Given the description of an element on the screen output the (x, y) to click on. 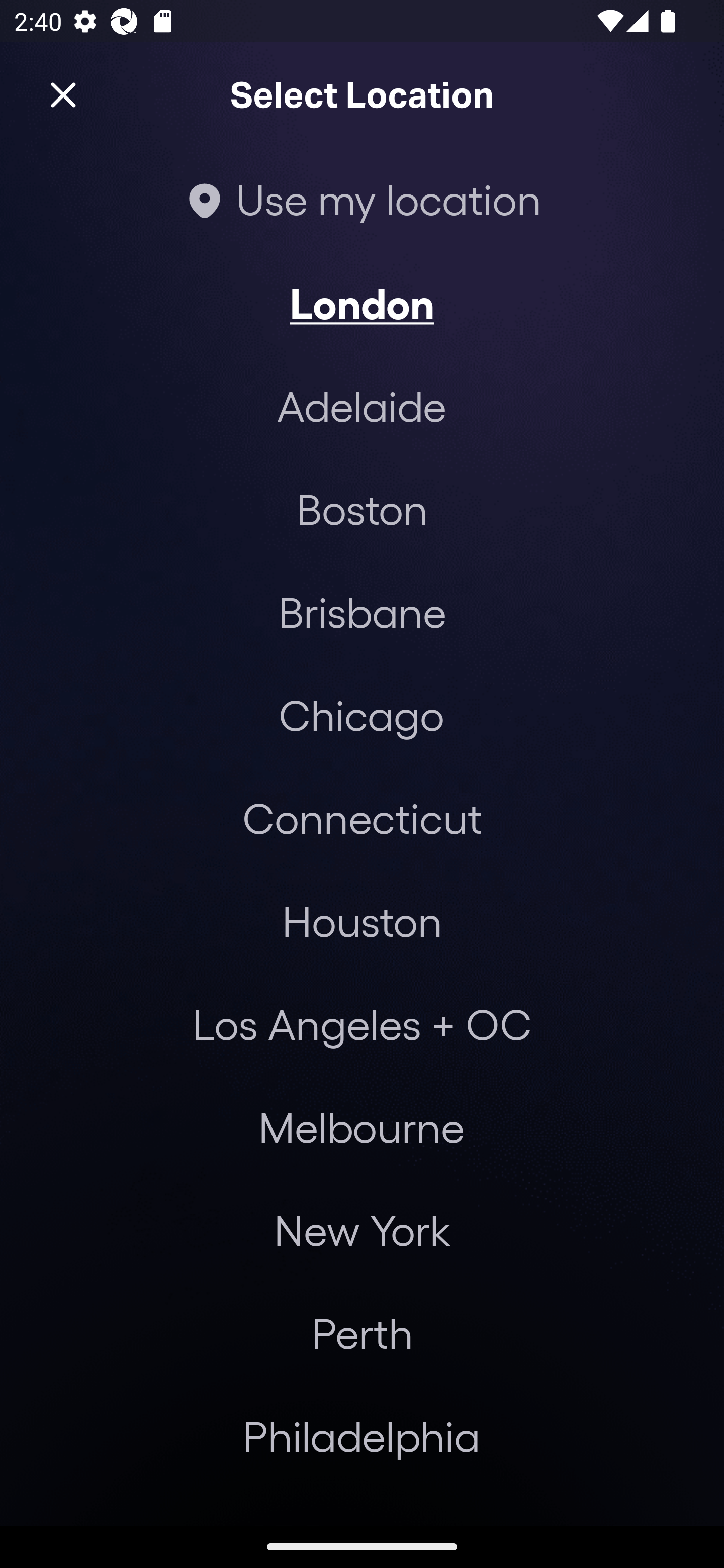
Close (62, 95)
   Use my location (362, 198)
London (361, 302)
Adelaide (361, 405)
Boston (361, 508)
Brisbane (361, 611)
Chicago (361, 714)
Connecticut (361, 817)
Houston (361, 920)
Los Angeles + OC (361, 1023)
Melbourne (361, 1127)
New York (361, 1230)
Perth (361, 1332)
Philadelphia (361, 1436)
